Given the description of an element on the screen output the (x, y) to click on. 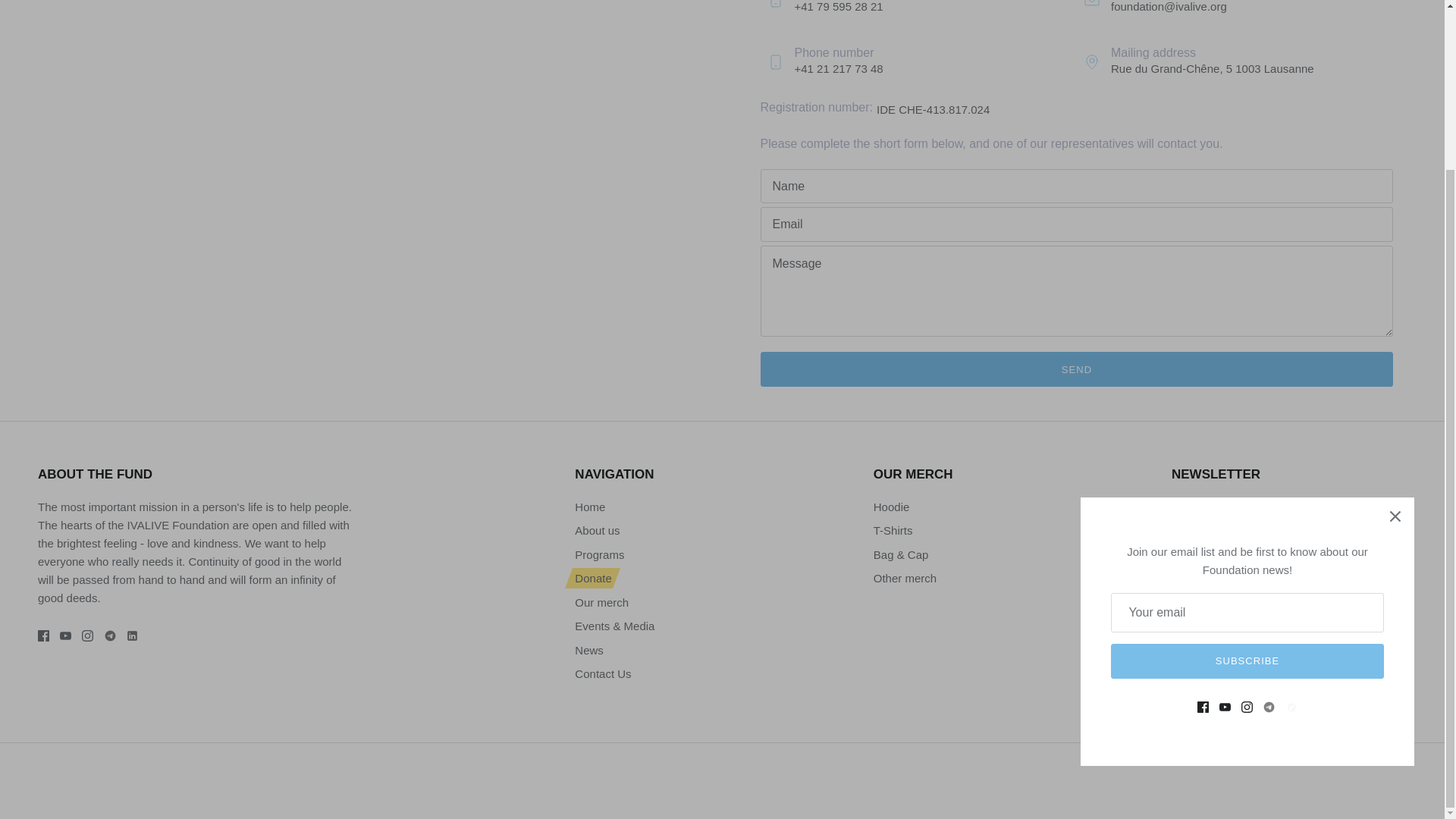
Youtube (65, 635)
Facebook (43, 635)
Instagram (87, 635)
